Given the description of an element on the screen output the (x, y) to click on. 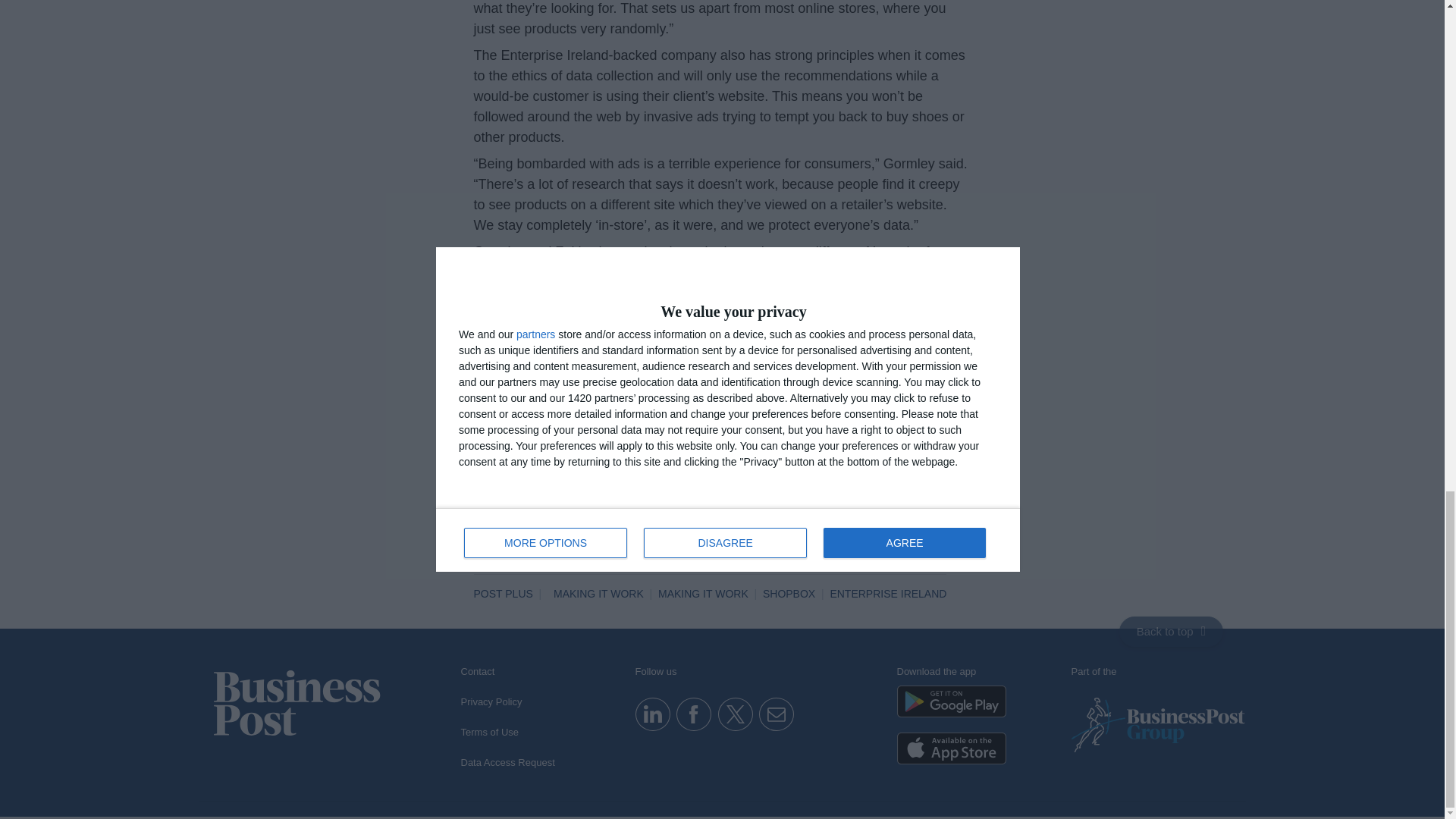
Facebook (693, 712)
Twitter (735, 712)
Email (775, 712)
Linkedin (652, 712)
